Given the description of an element on the screen output the (x, y) to click on. 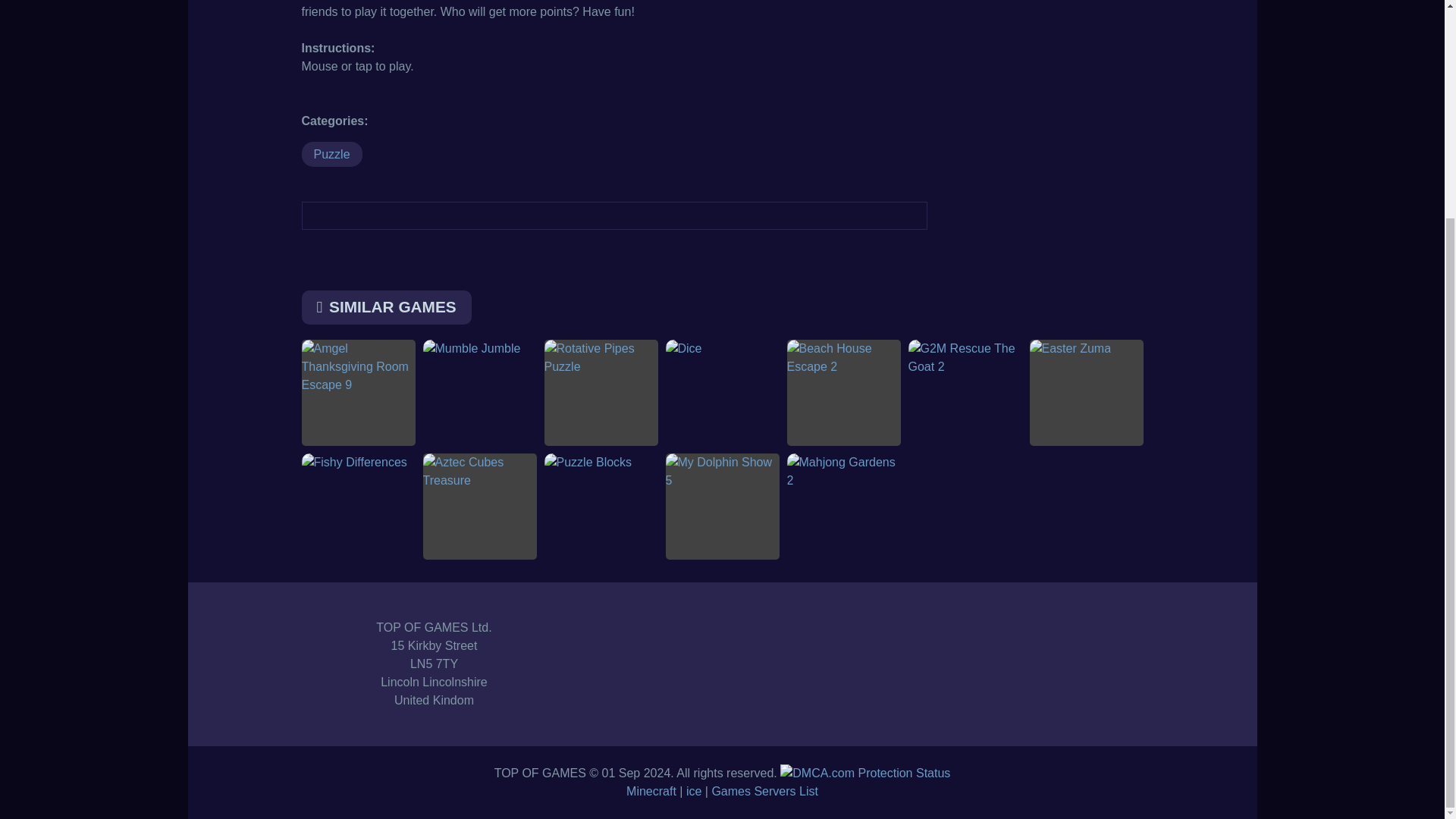
Minecraft (651, 790)
Games Servers List (763, 790)
DMCA.com Protection Status (865, 772)
ice (693, 790)
